Given the description of an element on the screen output the (x, y) to click on. 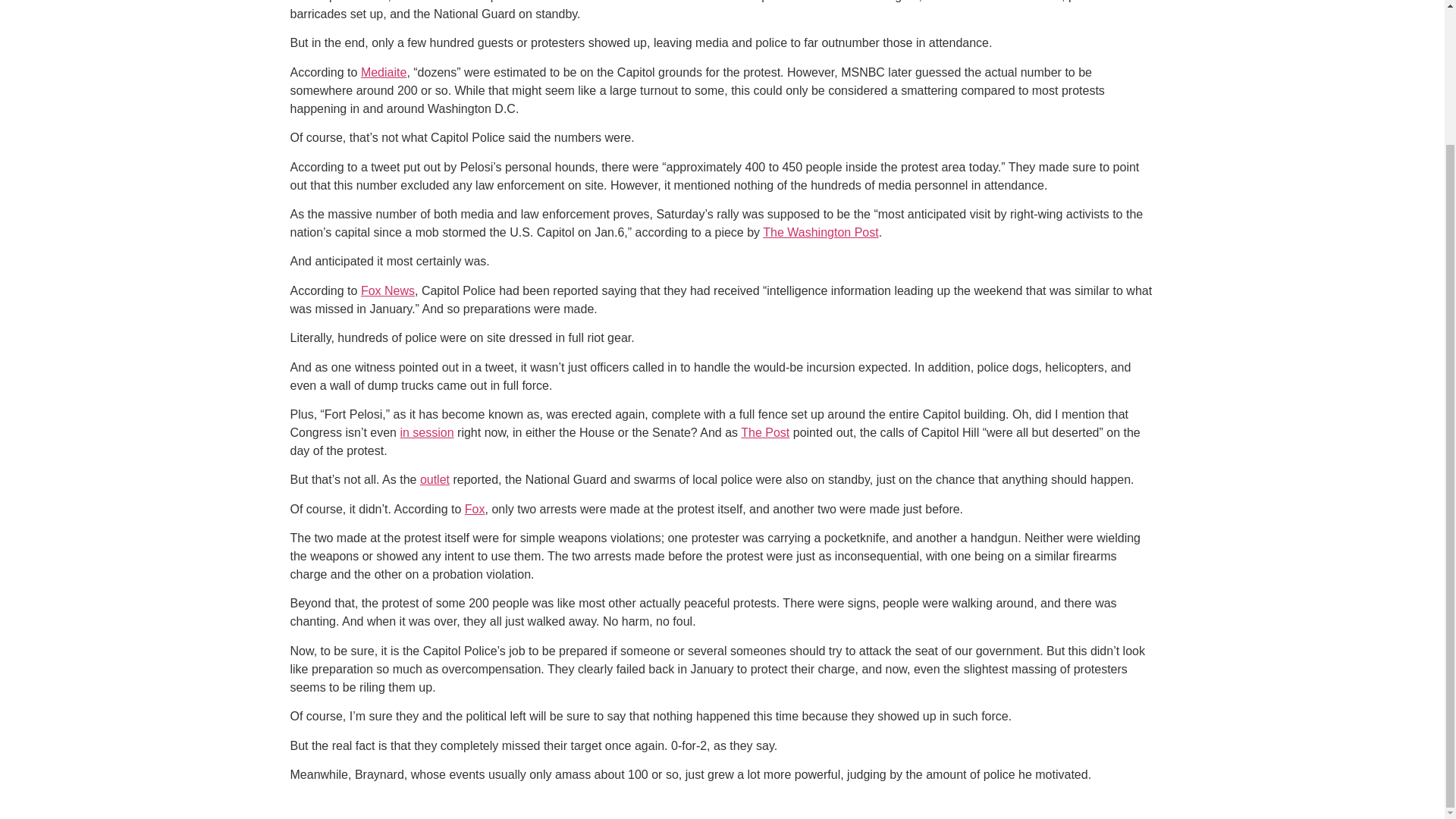
outlet (434, 479)
The Post (765, 431)
The Washington Post (819, 232)
Fox (474, 508)
Mediaite (383, 72)
in session (425, 431)
Fox News (387, 290)
